Given the description of an element on the screen output the (x, y) to click on. 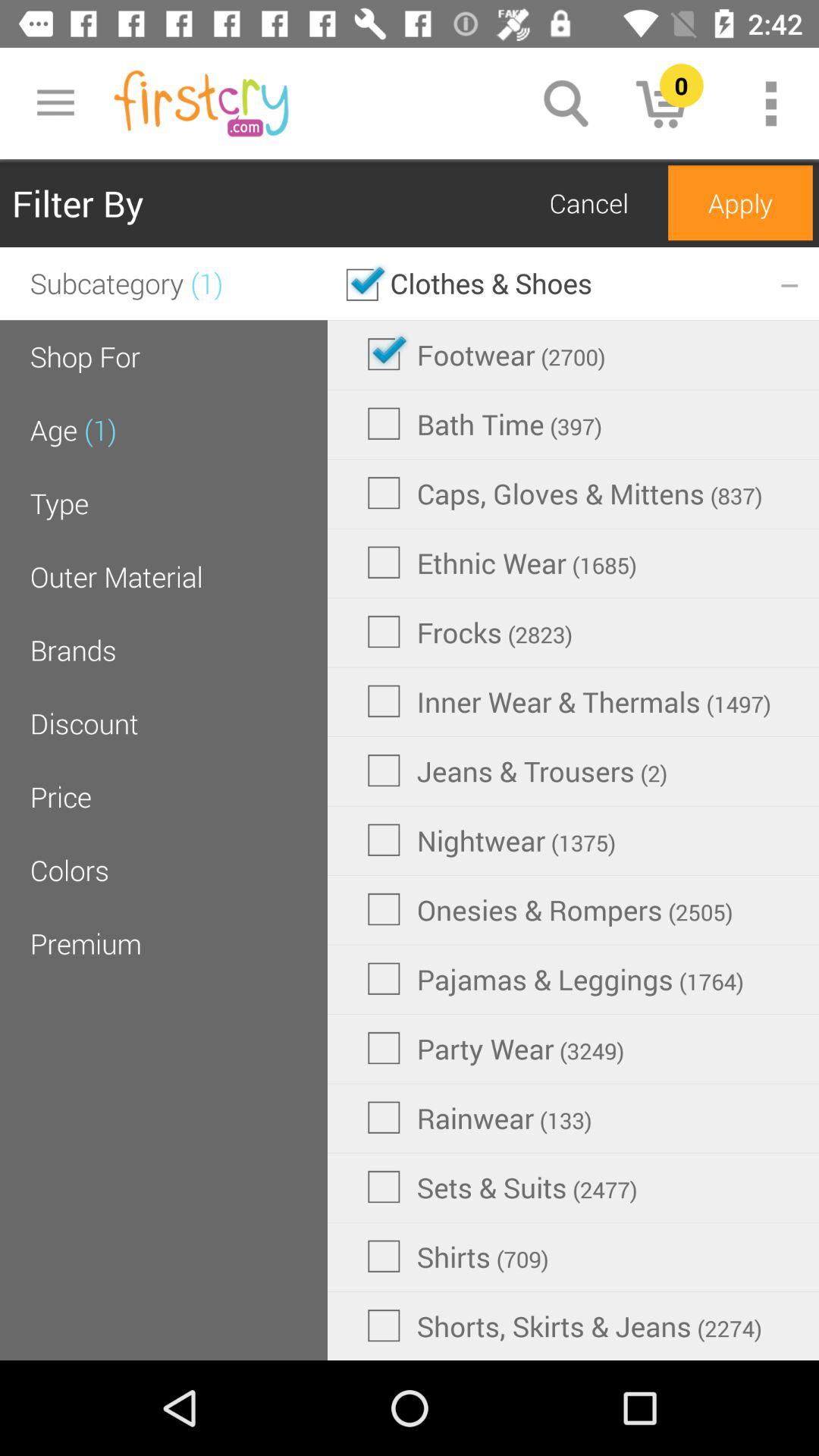
turn off onesies & rompers (2505) icon (550, 909)
